Given the description of an element on the screen output the (x, y) to click on. 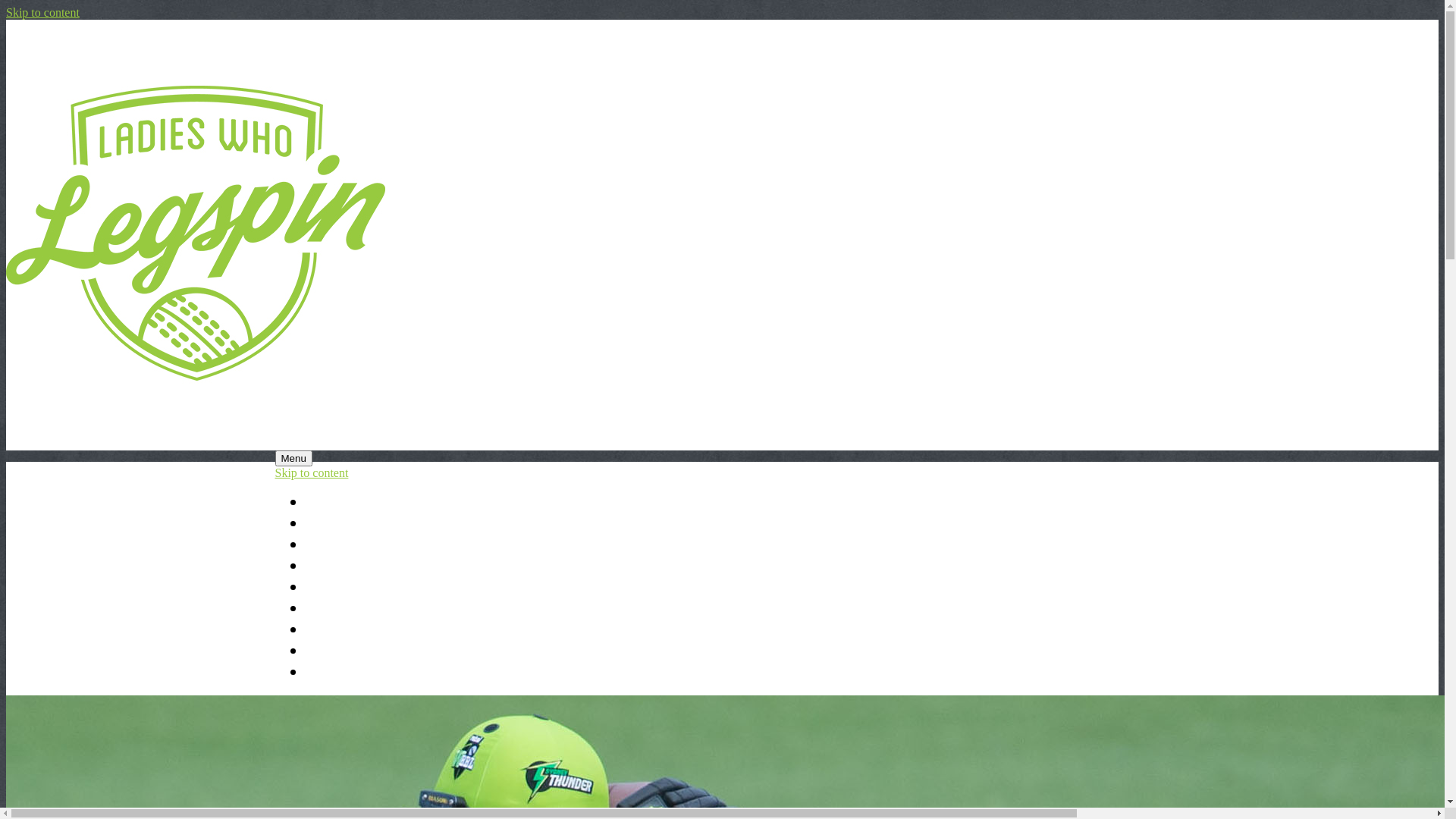
Skip to content Element type: text (311, 472)
Menu Element type: text (292, 458)
Lineout Element type: text (329, 587)
Store Element type: text (321, 672)
Home Element type: text (323, 502)
Ladies Who Element type: text (343, 523)
Leap Element type: text (320, 566)
Ladies who Legspin Just another Ladies Who Sites site Element type: hover (195, 418)
Podcasts Element type: text (334, 651)
Skip to content Element type: text (42, 12)
W-League Element type: text (338, 608)
Other Sports Element type: text (347, 629)
League Element type: text (328, 544)
